Given the description of an element on the screen output the (x, y) to click on. 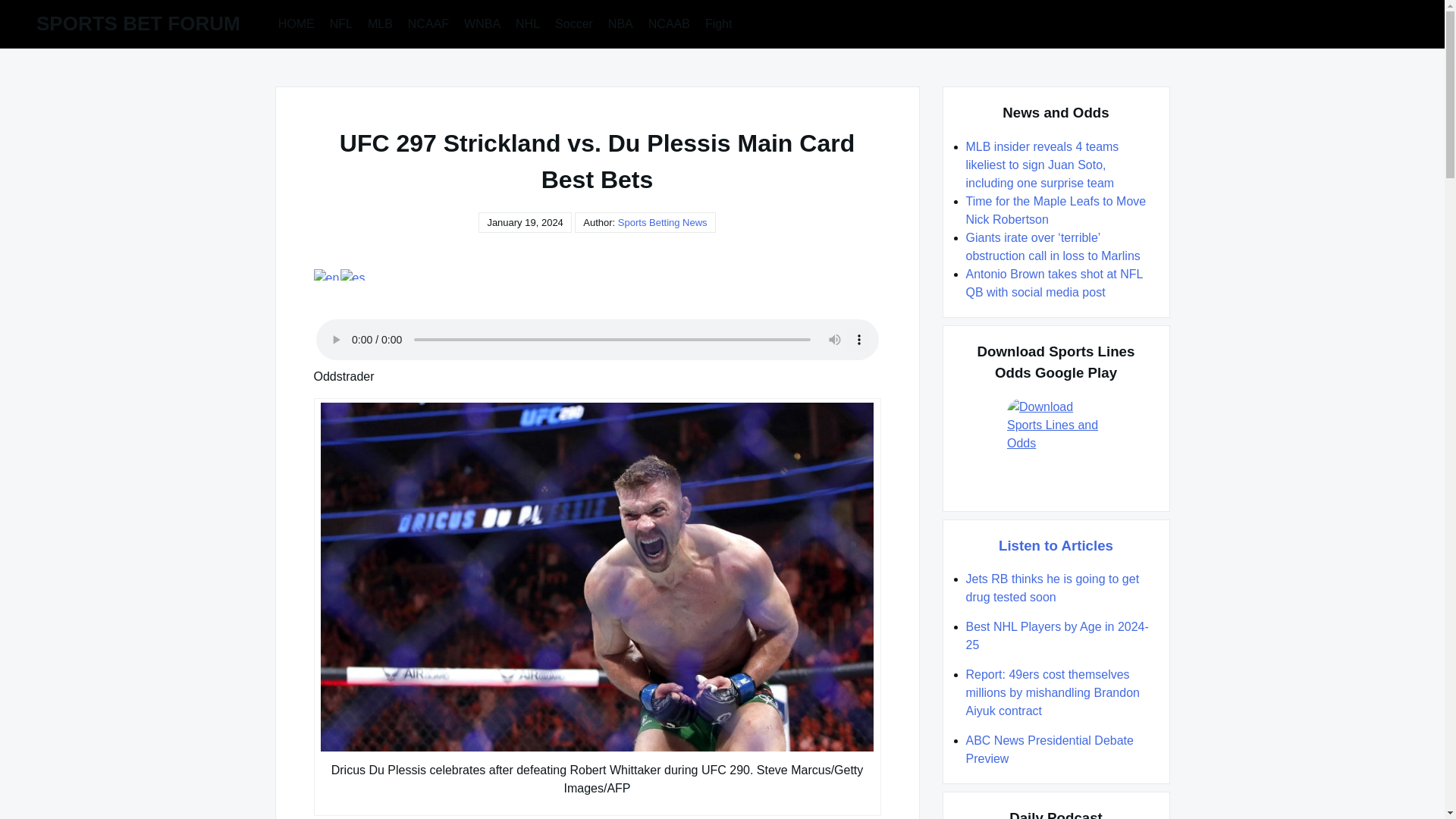
WNBA (482, 23)
SPORTS BET FORUM (138, 23)
NCAAF (428, 23)
NHL (527, 23)
Soccer (573, 23)
MLB (379, 23)
HOME (295, 23)
Time for the Maple Leafs to Move Nick Robertson (1056, 210)
NCAAB (668, 23)
